Given the description of an element on the screen output the (x, y) to click on. 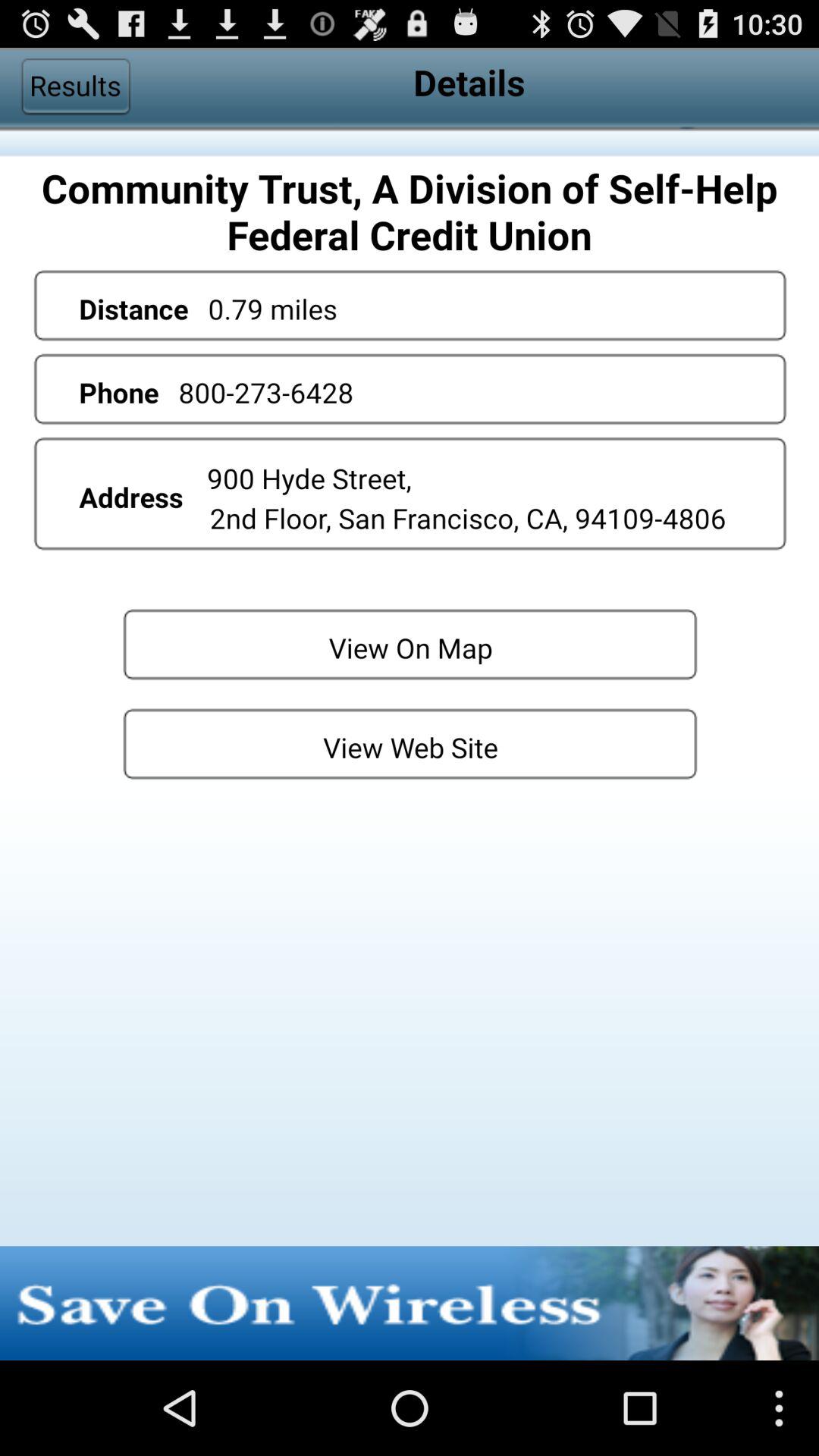
flip until results icon (75, 86)
